Given the description of an element on the screen output the (x, y) to click on. 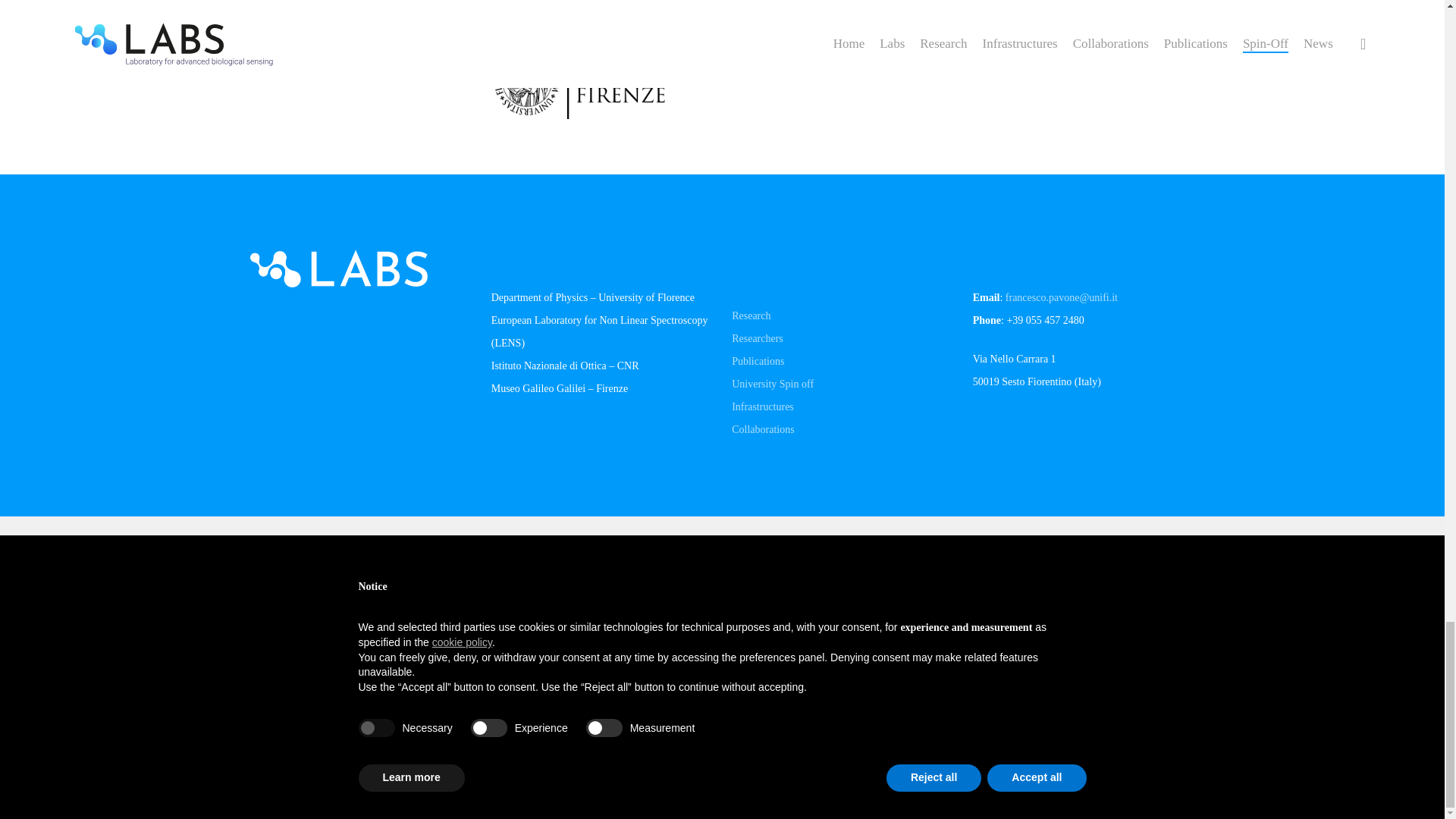
Giorgio Sestili - Science Communication (756, 775)
Collaborations (762, 429)
Privacy Policy (1016, 677)
Infrastructures (762, 406)
Privacy Policy  (1016, 677)
Cookie Policy (1111, 677)
Cookie Policy  (1111, 677)
Publications (758, 360)
Researchers (757, 337)
Deep Blue (887, 775)
